Given the description of an element on the screen output the (x, y) to click on. 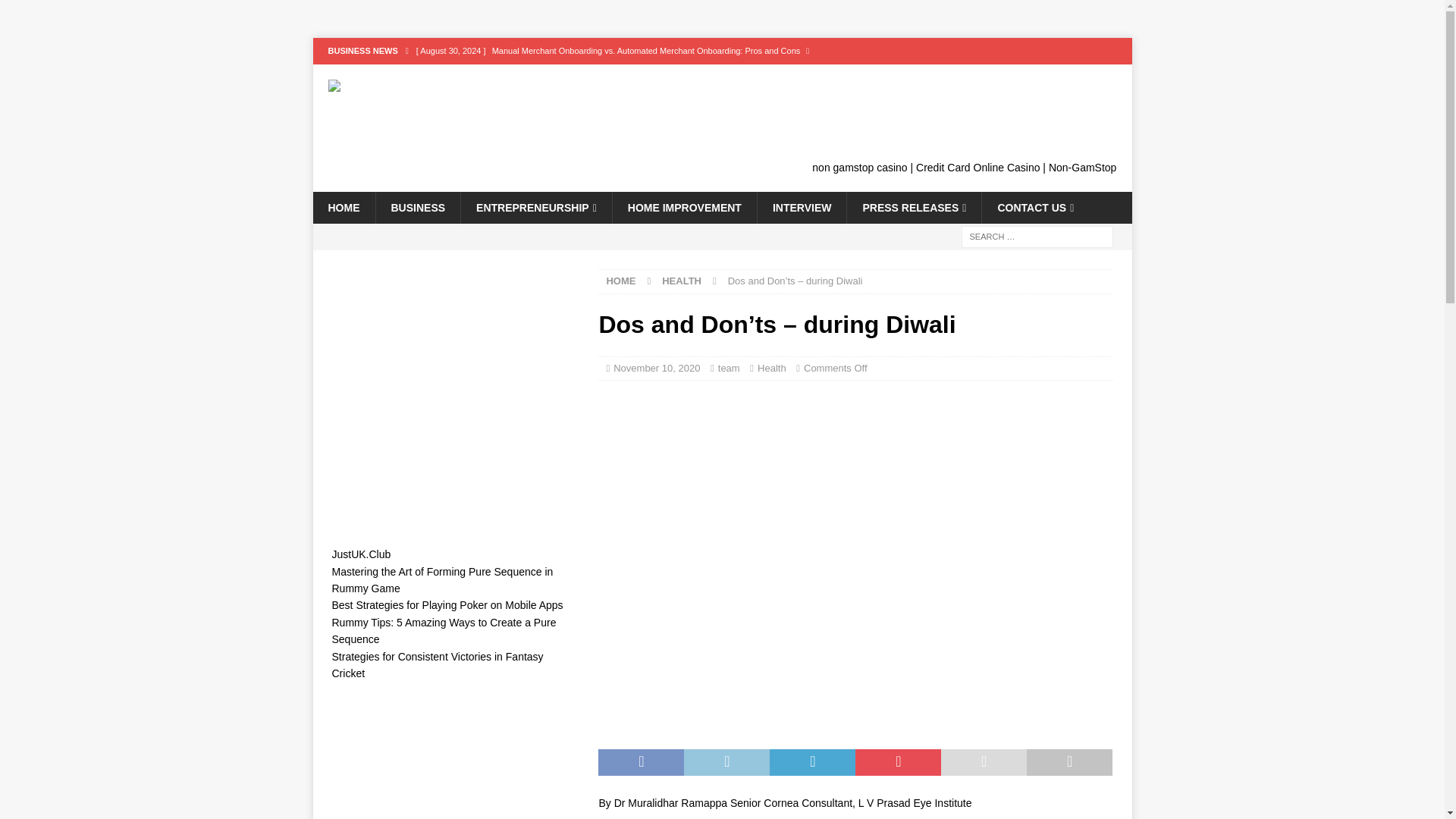
Credit Card Online Casino (977, 167)
ENTREPRENEURSHIP (535, 207)
HOME (343, 207)
November 10, 2020 (656, 367)
INTERVIEW (802, 207)
Non-GamStop (1082, 167)
non gamstop casino (859, 167)
PRESS RELEASES (913, 207)
BUSINESS (417, 207)
CONTACT US (1035, 207)
